Given the description of an element on the screen output the (x, y) to click on. 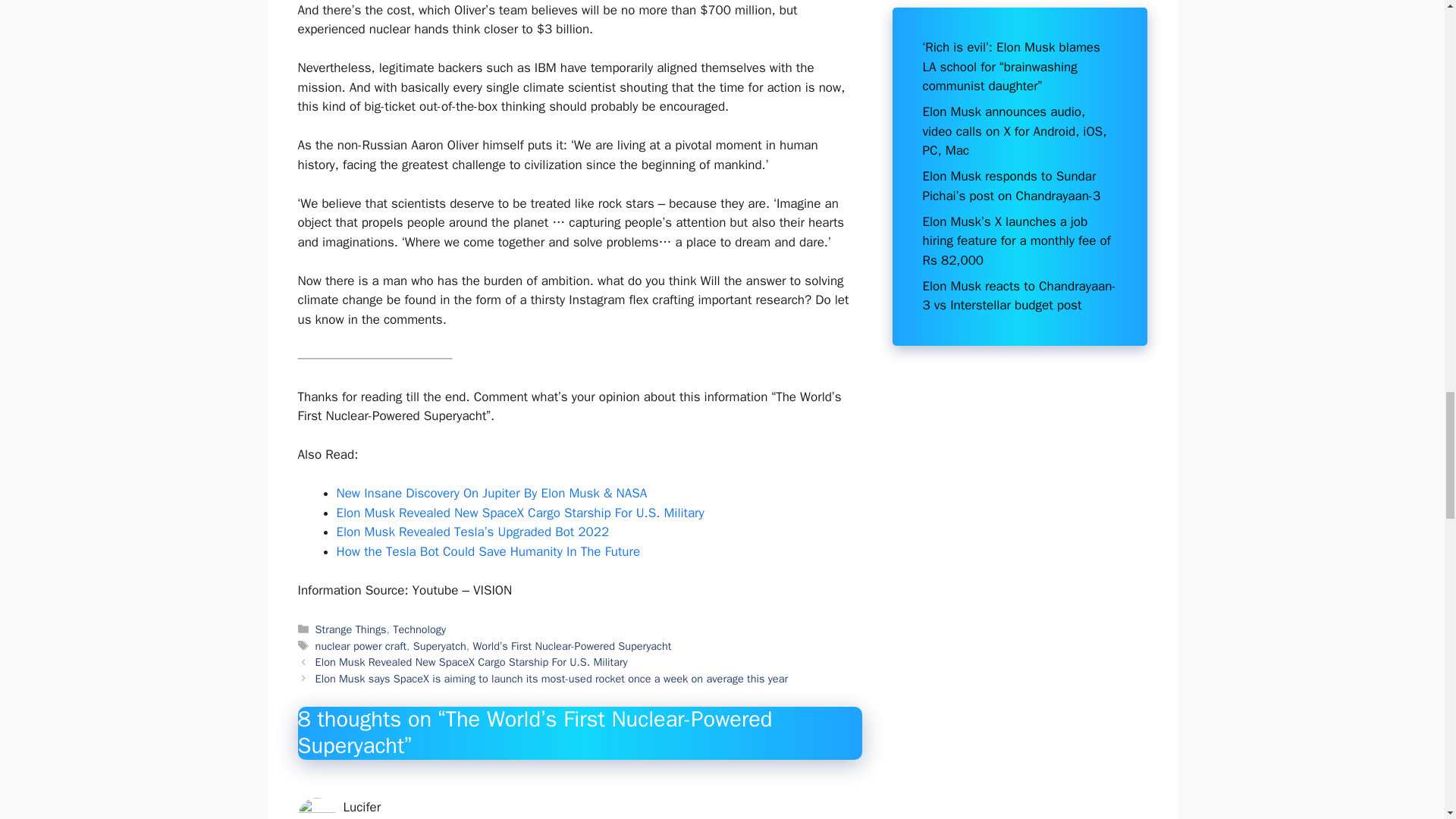
nuclear power craft (361, 645)
Strange Things (351, 629)
How the Tesla Bot Could Save Humanity In The Future (488, 551)
Superyatch (439, 645)
Technology (419, 629)
October 3, 2021 at 11:04 pm (414, 818)
